Given the description of an element on the screen output the (x, y) to click on. 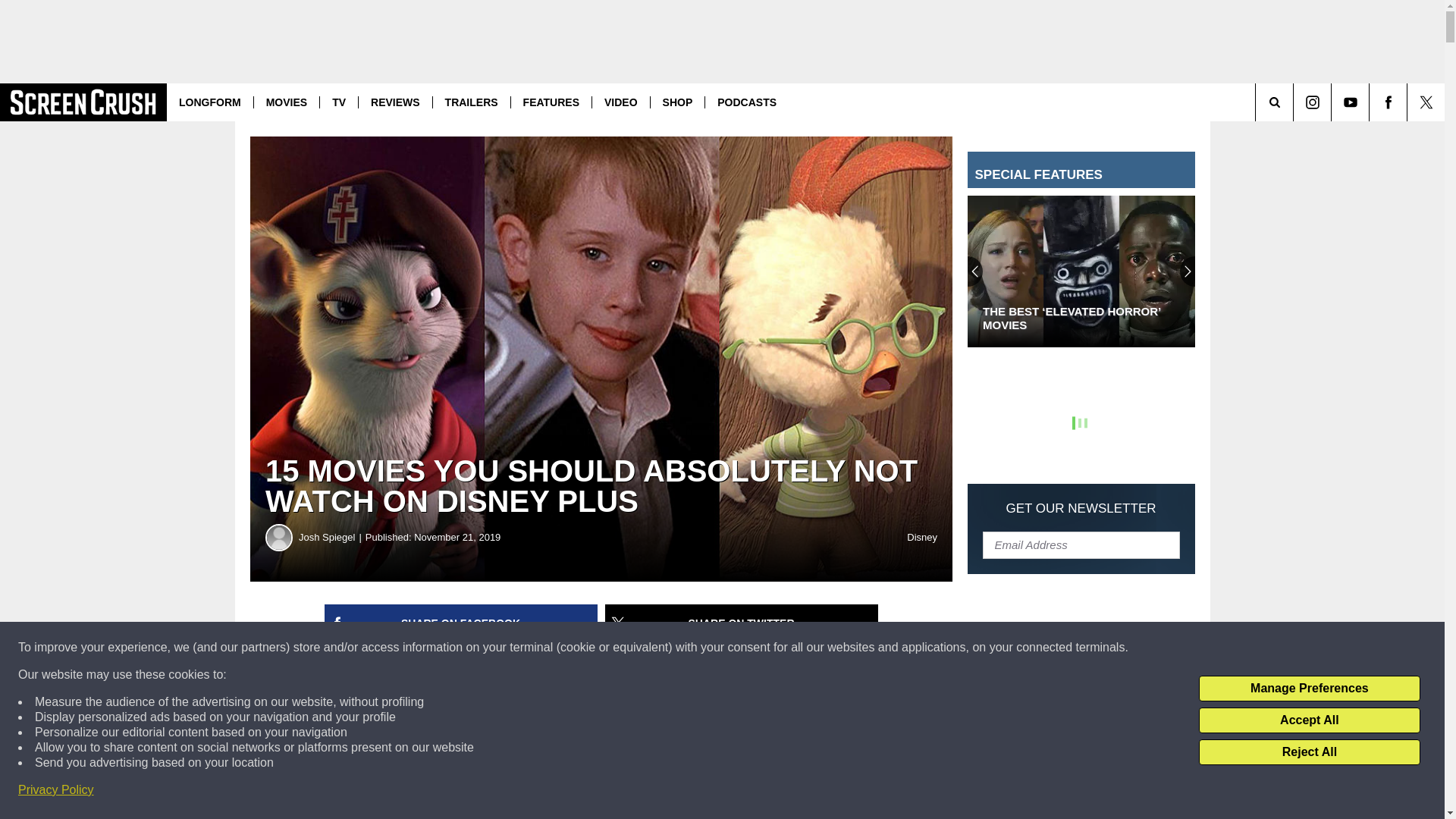
MOVIES (285, 102)
Email Address (1080, 543)
Visit us on Instagram (1312, 102)
VIDEO (620, 102)
Reject All (1309, 751)
SHARE ON TWITTER (741, 623)
Accept All (1309, 720)
Privacy Policy (55, 789)
SEARCH (1295, 102)
films (815, 749)
TV (338, 102)
SHARE ON FACEBOOK (460, 623)
Share on Twitter (741, 623)
REVIEWS (395, 102)
never (457, 798)
